Given the description of an element on the screen output the (x, y) to click on. 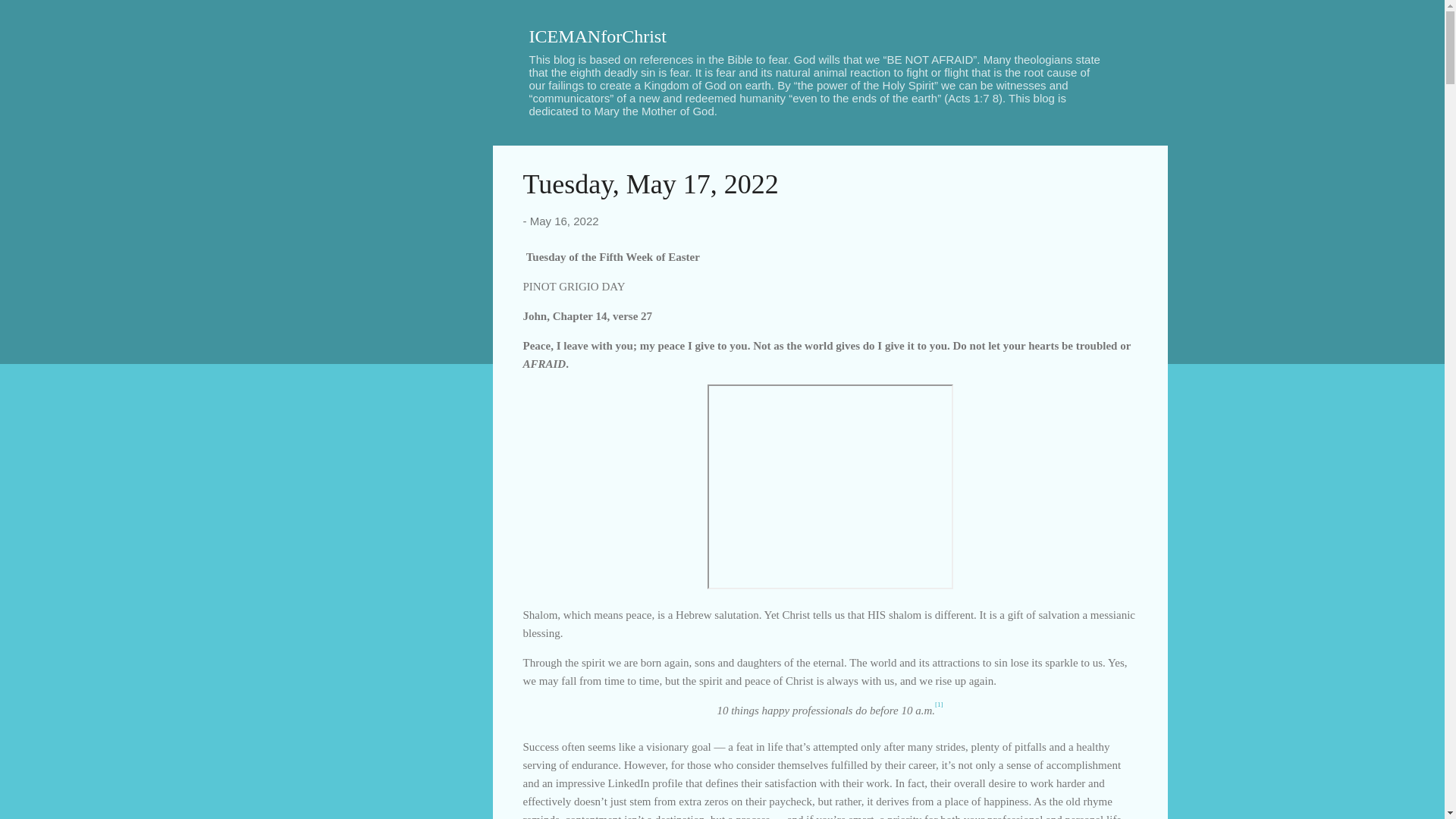
May 16, 2022 (563, 220)
Search (29, 18)
ICEMANforChrist (597, 35)
permanent link (563, 220)
